Given the description of an element on the screen output the (x, y) to click on. 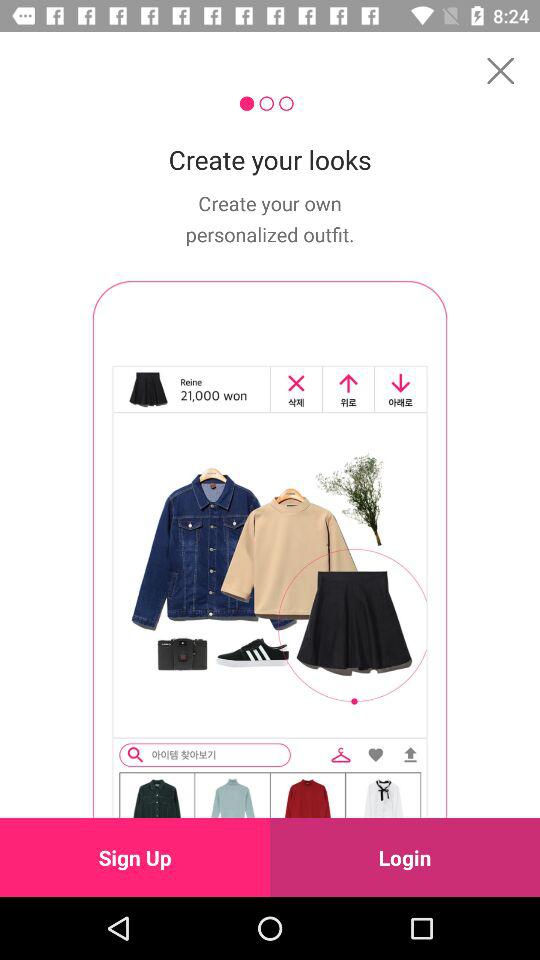
open the item next to sign up icon (405, 857)
